Given the description of an element on the screen output the (x, y) to click on. 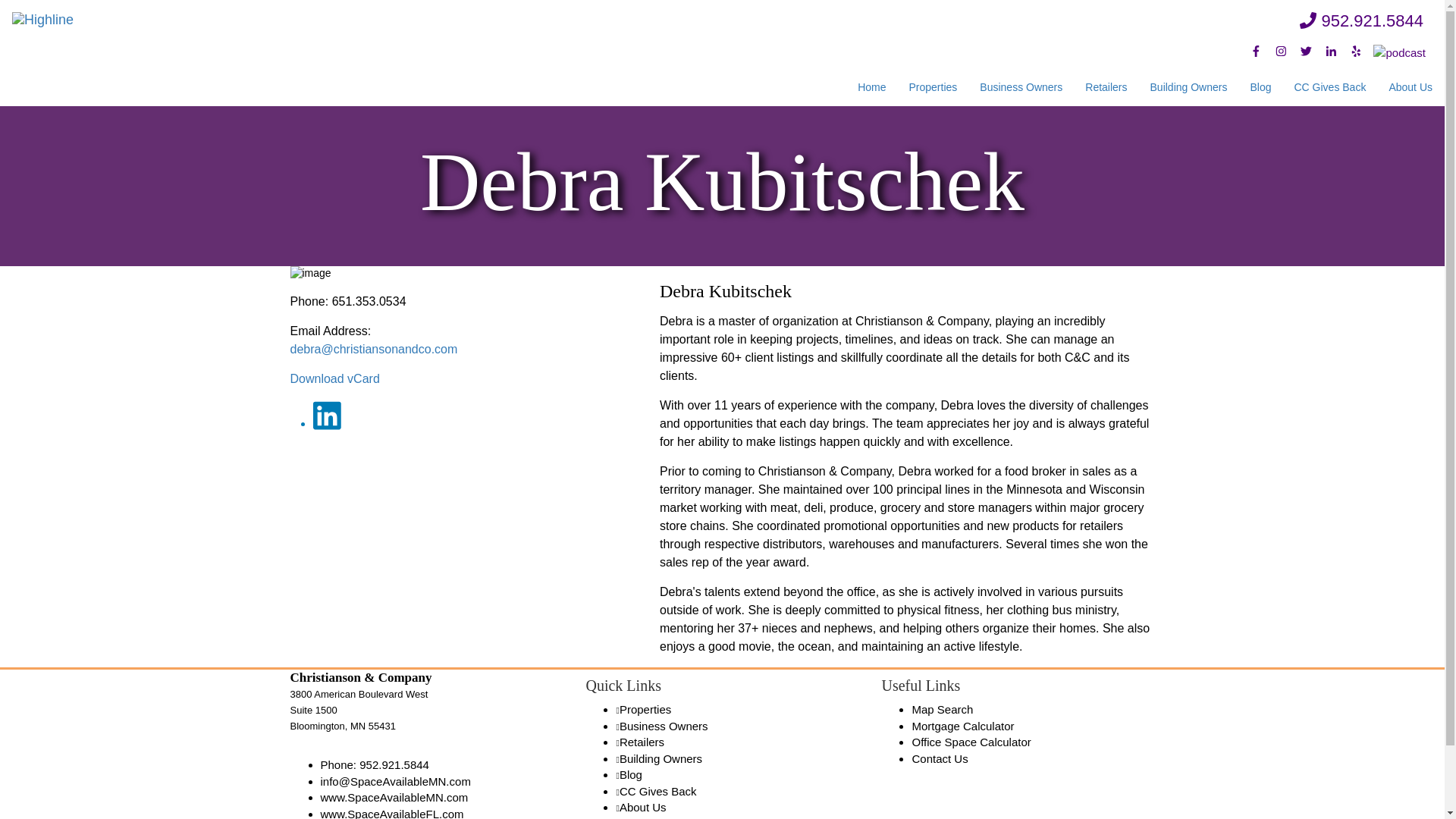
Retailers (641, 741)
CC Gives Back (1329, 86)
Retailers (1106, 86)
Building Owners (660, 758)
Properties (645, 708)
Contact Us (939, 758)
Office Space Calculator (970, 741)
Mortgage Calculator (962, 725)
About Us (1410, 86)
Properties (933, 86)
Map Search (941, 708)
Phone: 952.921.5844 (374, 764)
Download vCard (333, 378)
Home (870, 86)
Building Owners (1188, 86)
